Given the description of an element on the screen output the (x, y) to click on. 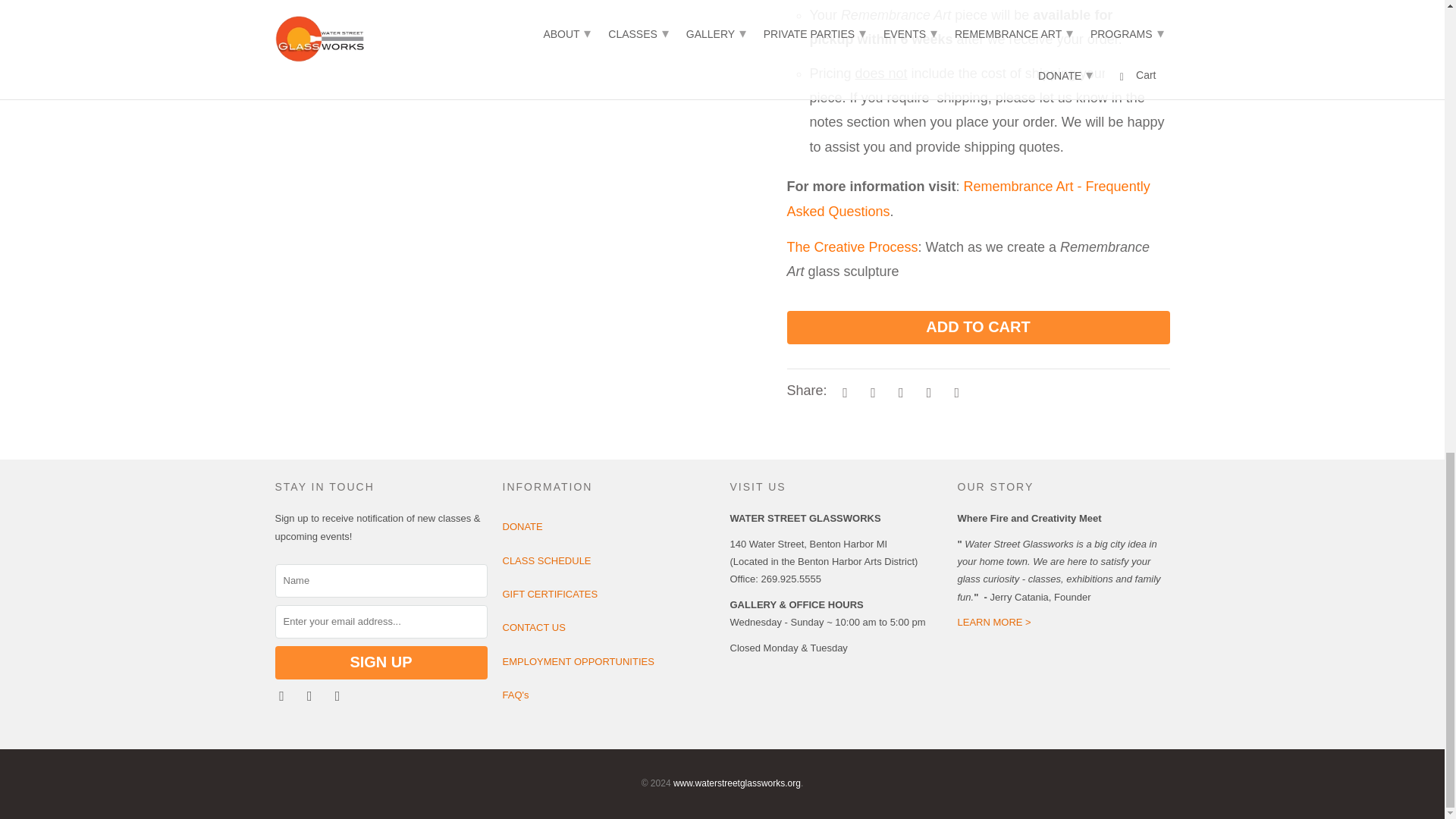
www.waterstreetglassworks.org on Facebook (283, 694)
Remembrance Art collection by Water Street Glassworks (852, 246)
Sign Up (380, 662)
Share this on Facebook (870, 391)
Share this on Twitter (843, 391)
Share this on Pinterest (898, 391)
Email this to a friend (954, 391)
